Given the description of an element on the screen output the (x, y) to click on. 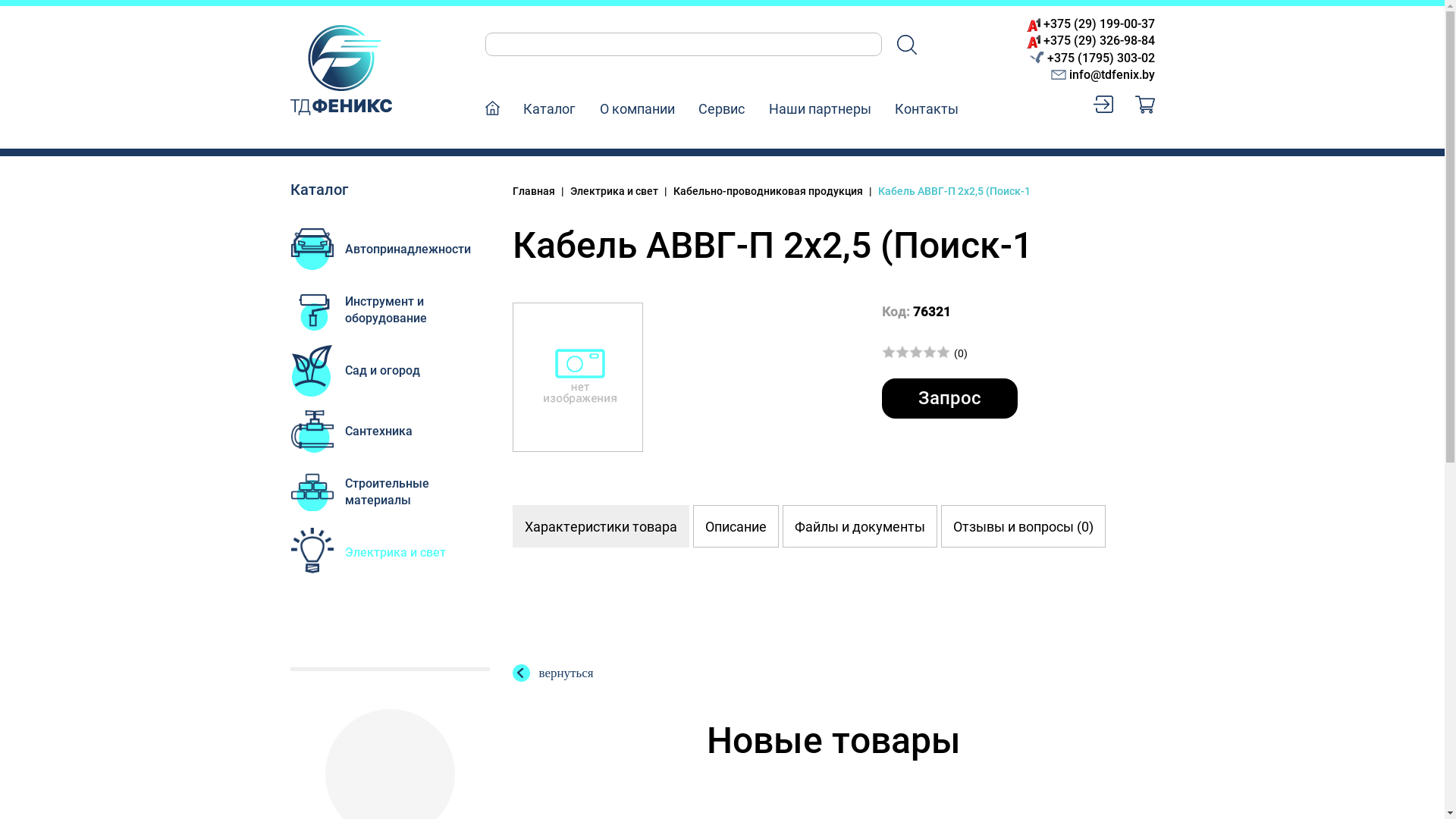
+375 (29) 199-00-37 Element type: text (1098, 23)
+375 (29) 326-98-84 Element type: text (1098, 39)
info@tdfenix.by Element type: text (1102, 73)
image/svg+xml +375 (1795) 303-02 Element type: text (1091, 57)
TdFenix.by Element type: hover (340, 70)
